Given the description of an element on the screen output the (x, y) to click on. 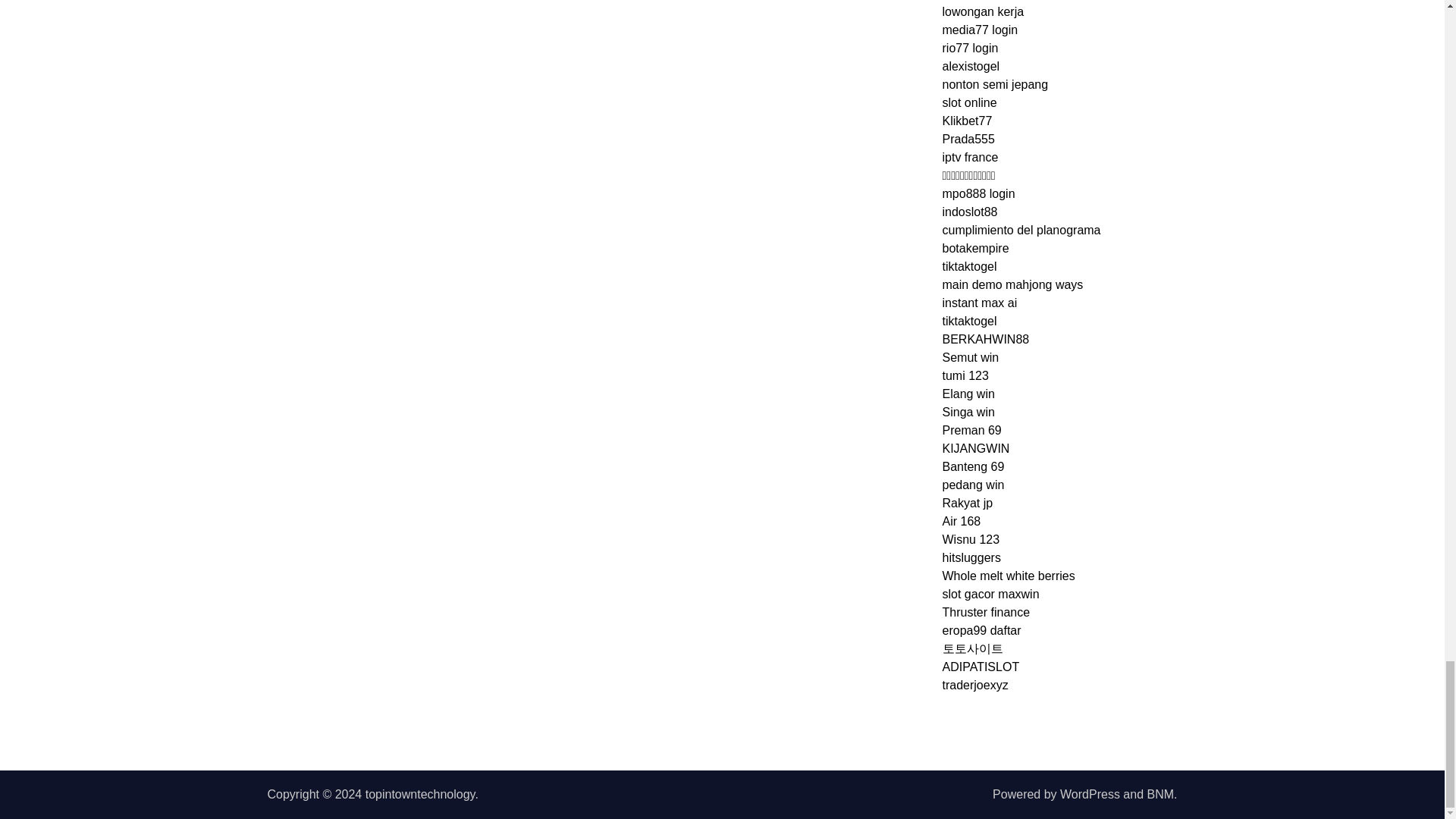
topintowntechnology (420, 793)
